Given the description of an element on the screen output the (x, y) to click on. 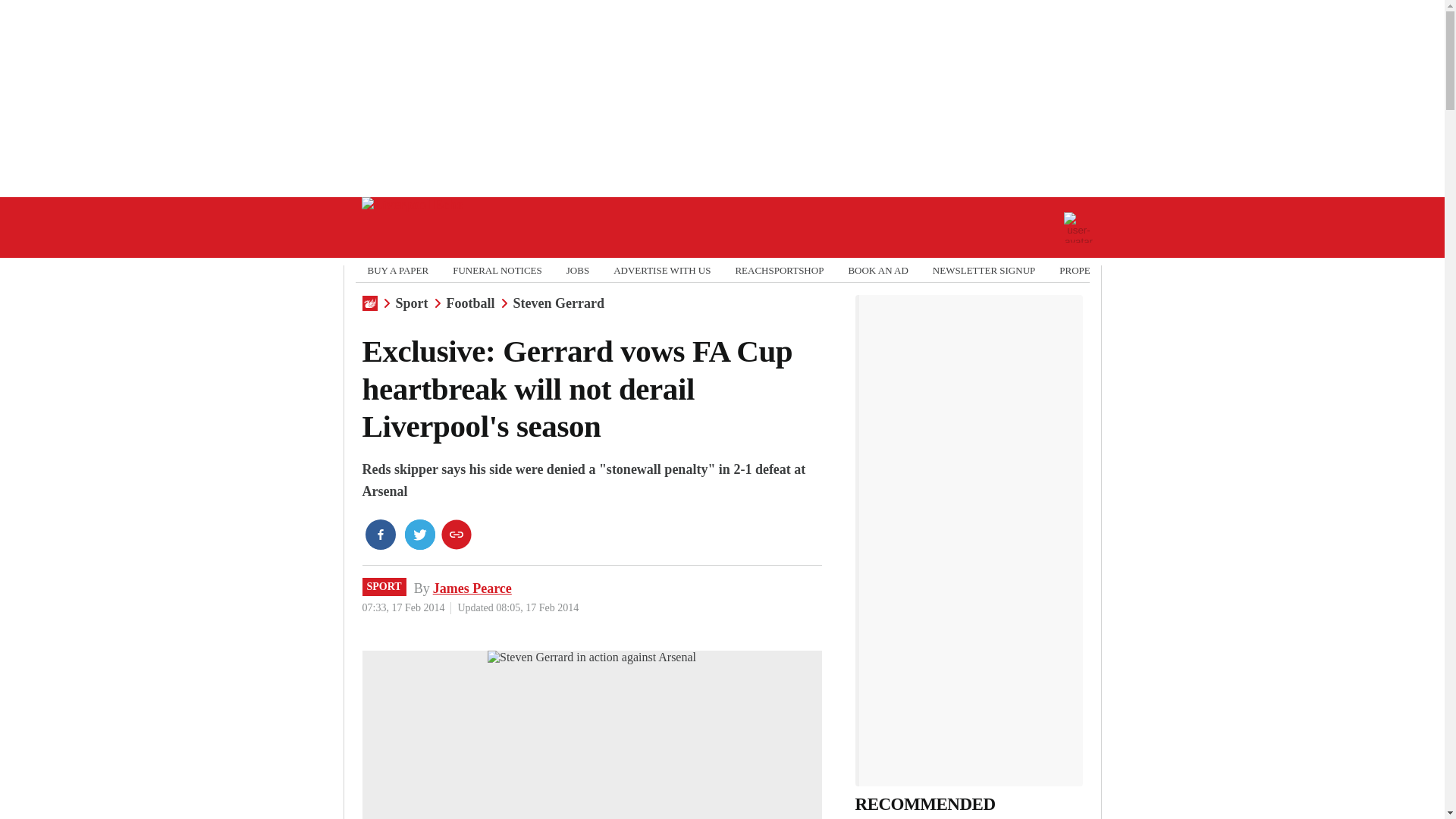
JOBS (577, 270)
Steven Gerrard (558, 303)
PROPERTY (1084, 270)
FUNERAL NOTICES (496, 270)
avatar (1077, 227)
Football (470, 303)
BOOK AN AD (877, 270)
James Pearce (472, 588)
SPORT (384, 587)
REACHSPORTSHOP (779, 270)
